Given the description of an element on the screen output the (x, y) to click on. 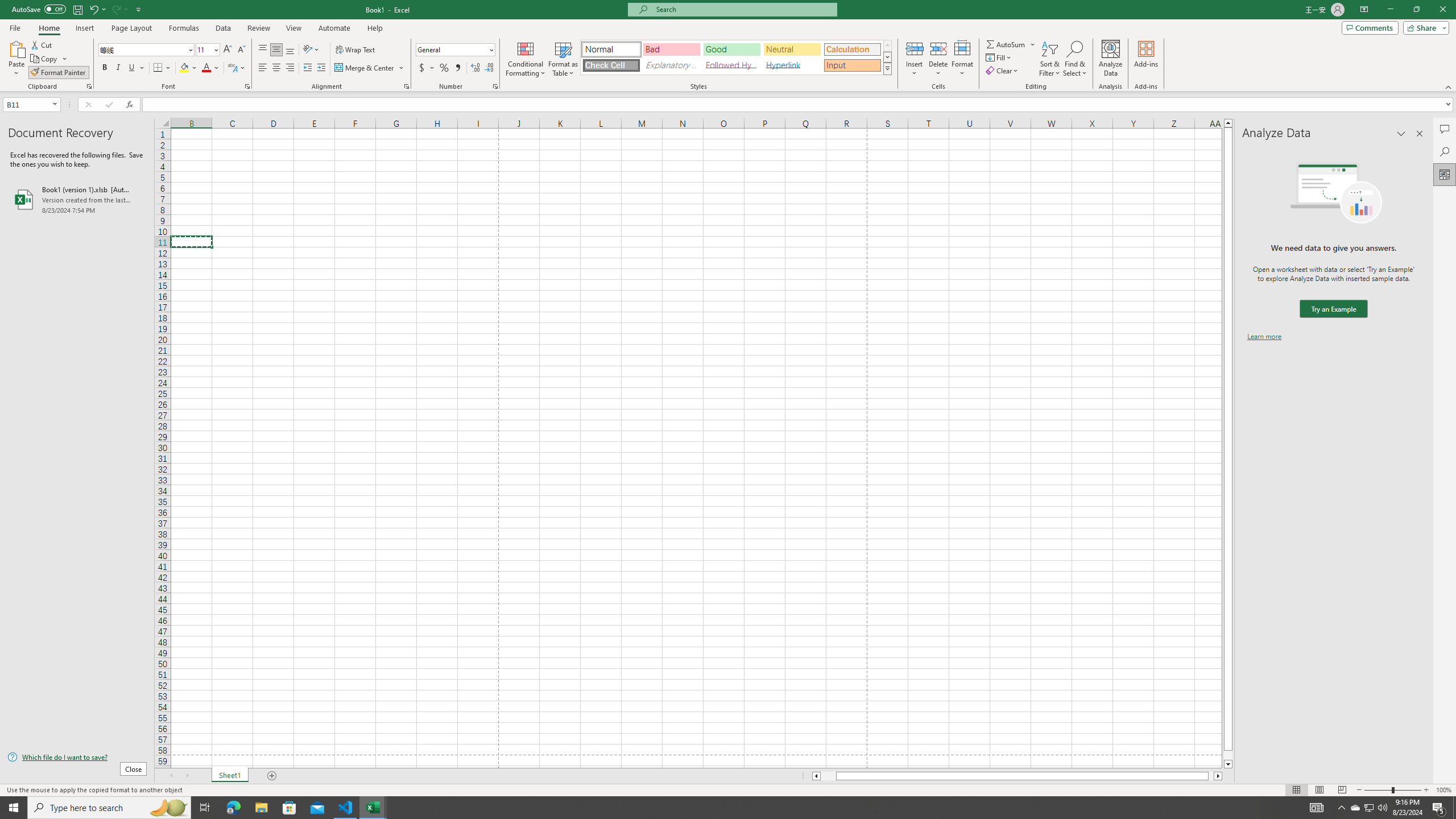
Paste (16, 48)
Delete (938, 58)
Calculation (852, 49)
Sort & Filter (1049, 58)
Orientation (311, 49)
Format Cell Alignment (405, 85)
Merge & Center (369, 67)
Insert Cells (914, 48)
